Given the description of an element on the screen output the (x, y) to click on. 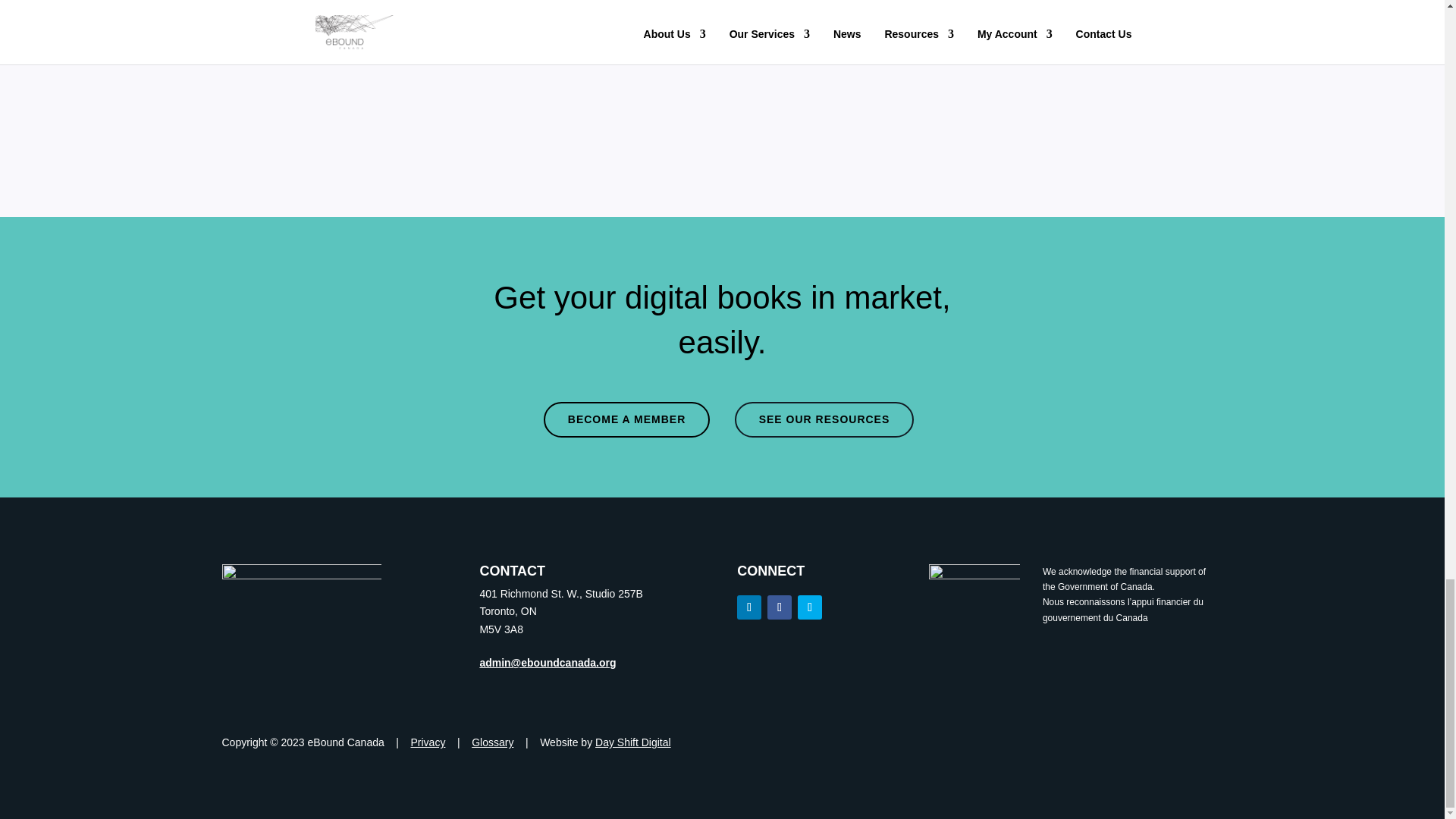
BECOME A MEMBER (626, 420)
SEE OUR RESOURCES (824, 420)
Follow on LinkedIn (748, 607)
Follow (748, 607)
Follow on Facebook (779, 607)
Follow on Twitter (809, 607)
